Given the description of an element on the screen output the (x, y) to click on. 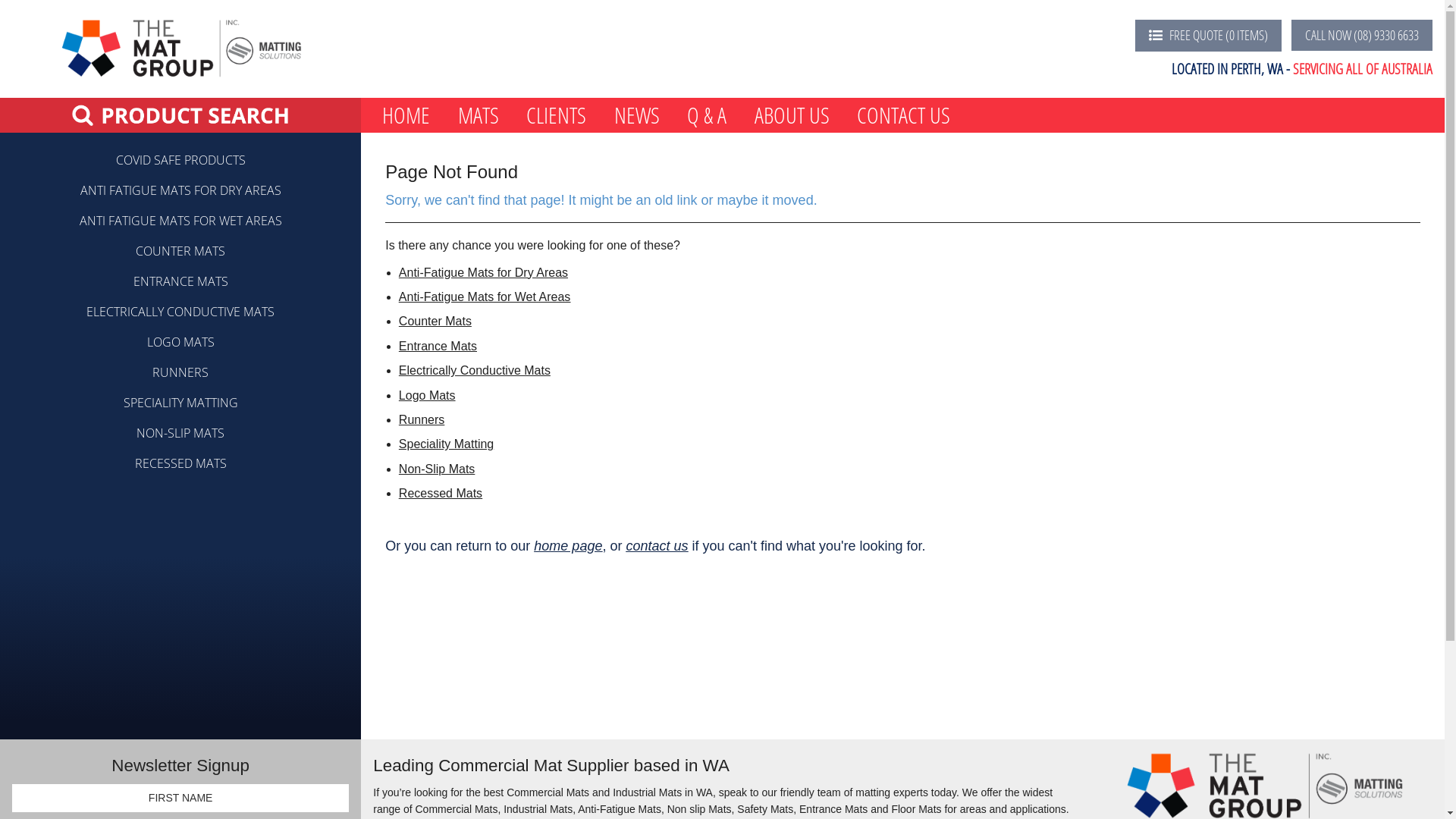
COUNTER MATS Element type: text (180, 250)
Recessed Mats Element type: text (440, 492)
NEWS Element type: text (636, 114)
Q & A Element type: text (706, 114)
Non-Slip Mats Element type: text (436, 468)
Anti-Fatigue Mats for Dry Areas Element type: text (482, 272)
ELECTRICALLY CONDUCTIVE MATS Element type: text (180, 311)
CLIENTS Element type: text (556, 114)
Logo Mats Element type: text (426, 395)
NON-SLIP MATS Element type: text (180, 432)
home page Element type: text (567, 545)
Anti-Fatigue Mats for Wet Areas Element type: text (484, 296)
contact us Element type: text (656, 545)
Counter Mats Element type: text (434, 320)
ENTRANCE MATS Element type: text (180, 281)
Entrance Mats Element type: text (437, 345)
RECESSED MATS Element type: text (180, 463)
COVID SAFE PRODUCTS Element type: text (180, 159)
CONTACT US Element type: text (903, 114)
FREE QUOTE (0 ITEMS) Element type: text (1208, 35)
Electrically Conductive Mats Element type: text (474, 370)
LOGO MATS Element type: text (180, 341)
MATS Element type: text (478, 114)
Runners Element type: text (421, 419)
SPECIALITY MATTING Element type: text (180, 402)
HOME Element type: text (406, 114)
RUNNERS Element type: text (180, 372)
ABOUT US Element type: text (791, 114)
ANTI FATIGUE MATS FOR WET AREAS Element type: text (180, 220)
Speciality Matting Element type: text (445, 443)
CALL NOW (08) 9330 6633 Element type: text (1361, 34)
ANTI FATIGUE MATS FOR DRY AREAS Element type: text (180, 190)
